Given the description of an element on the screen output the (x, y) to click on. 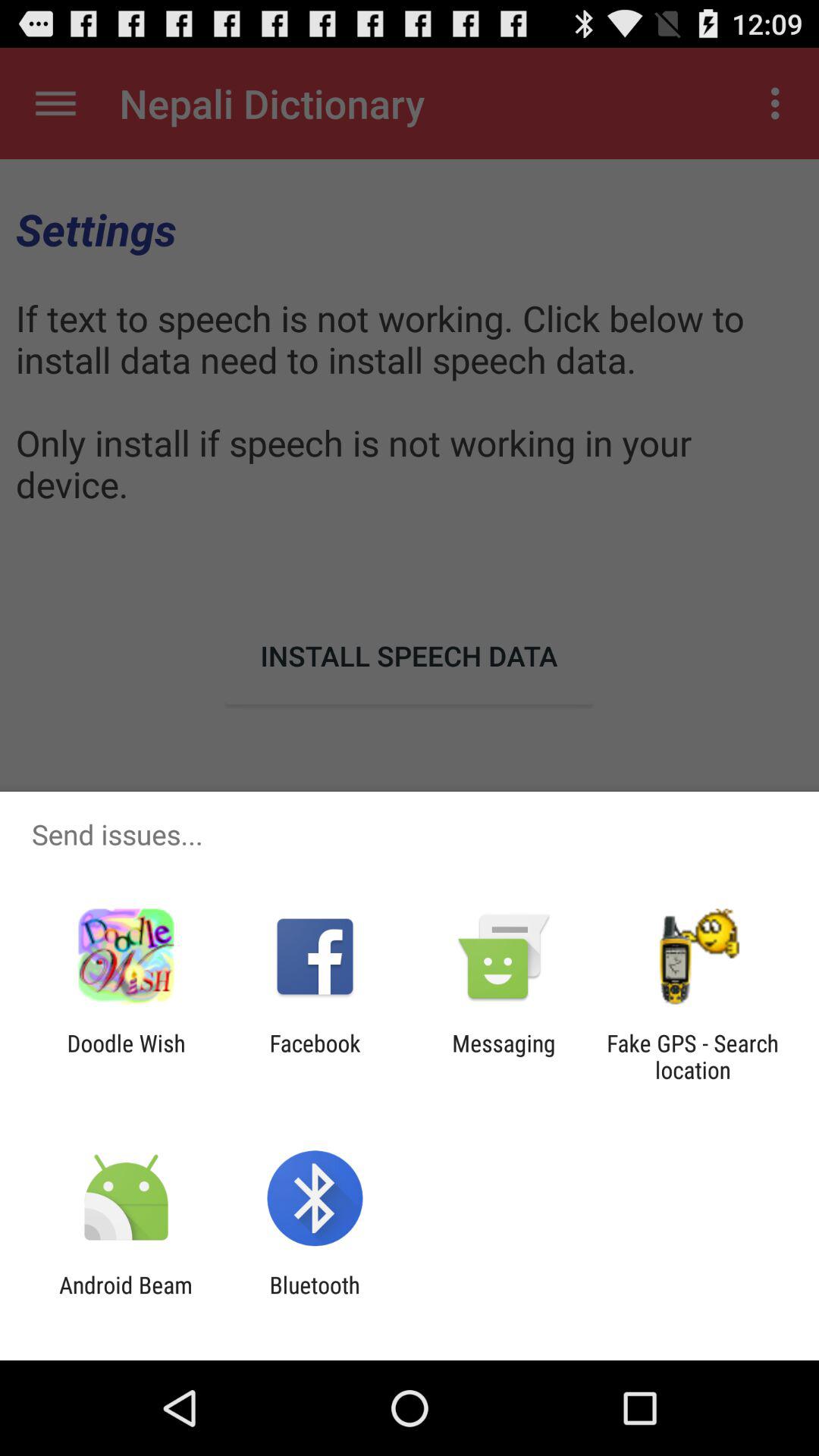
choose the item at the bottom right corner (692, 1056)
